Given the description of an element on the screen output the (x, y) to click on. 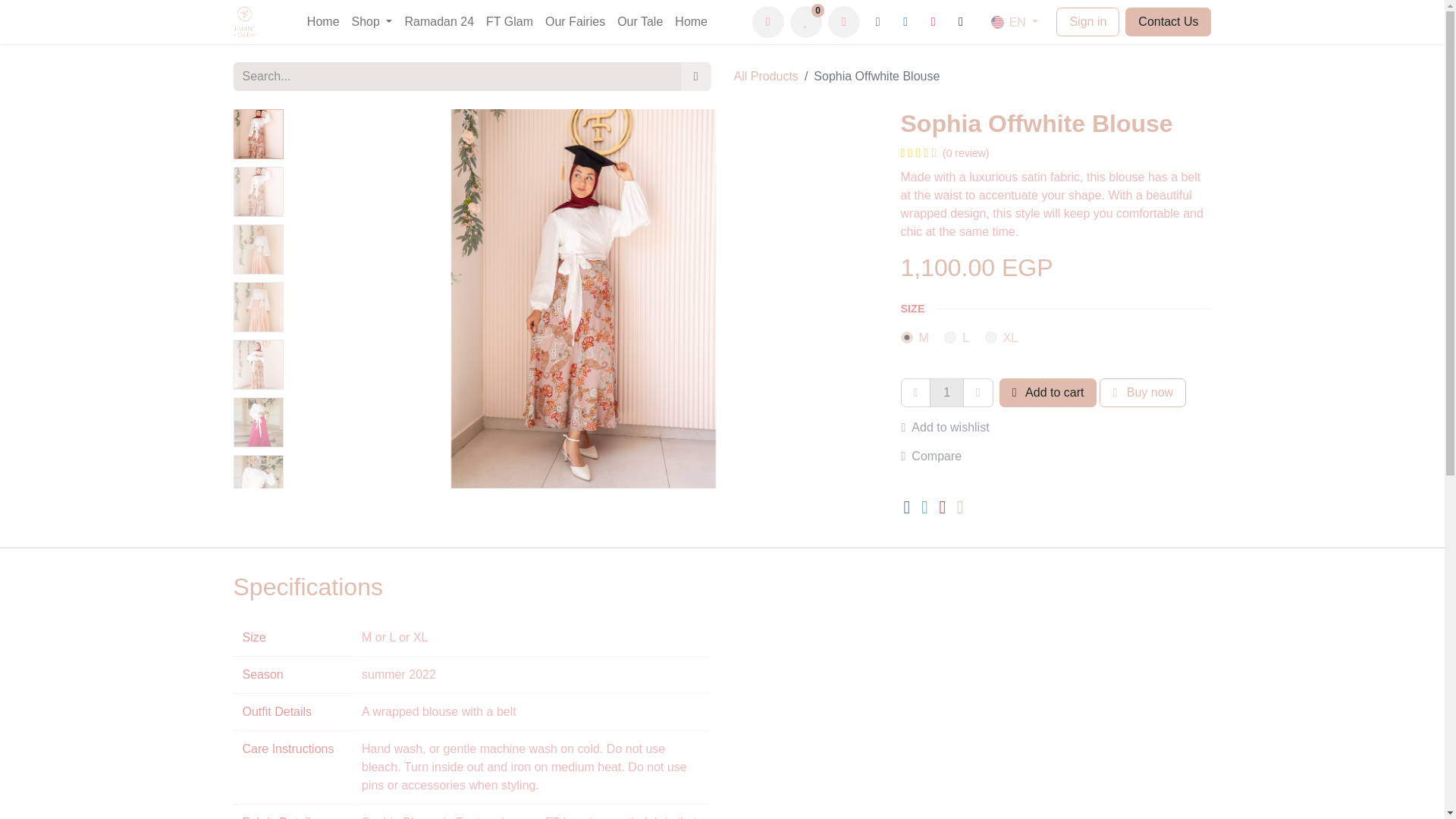
1 (946, 392)
Our Fairies (574, 21)
Sign in (1088, 21)
Home (690, 21)
5766 (991, 337)
Our Tale (639, 21)
Contact Us (1168, 21)
FT Glam (509, 21)
EN (1013, 22)
0 (806, 21)
